Given the description of an element on the screen output the (x, y) to click on. 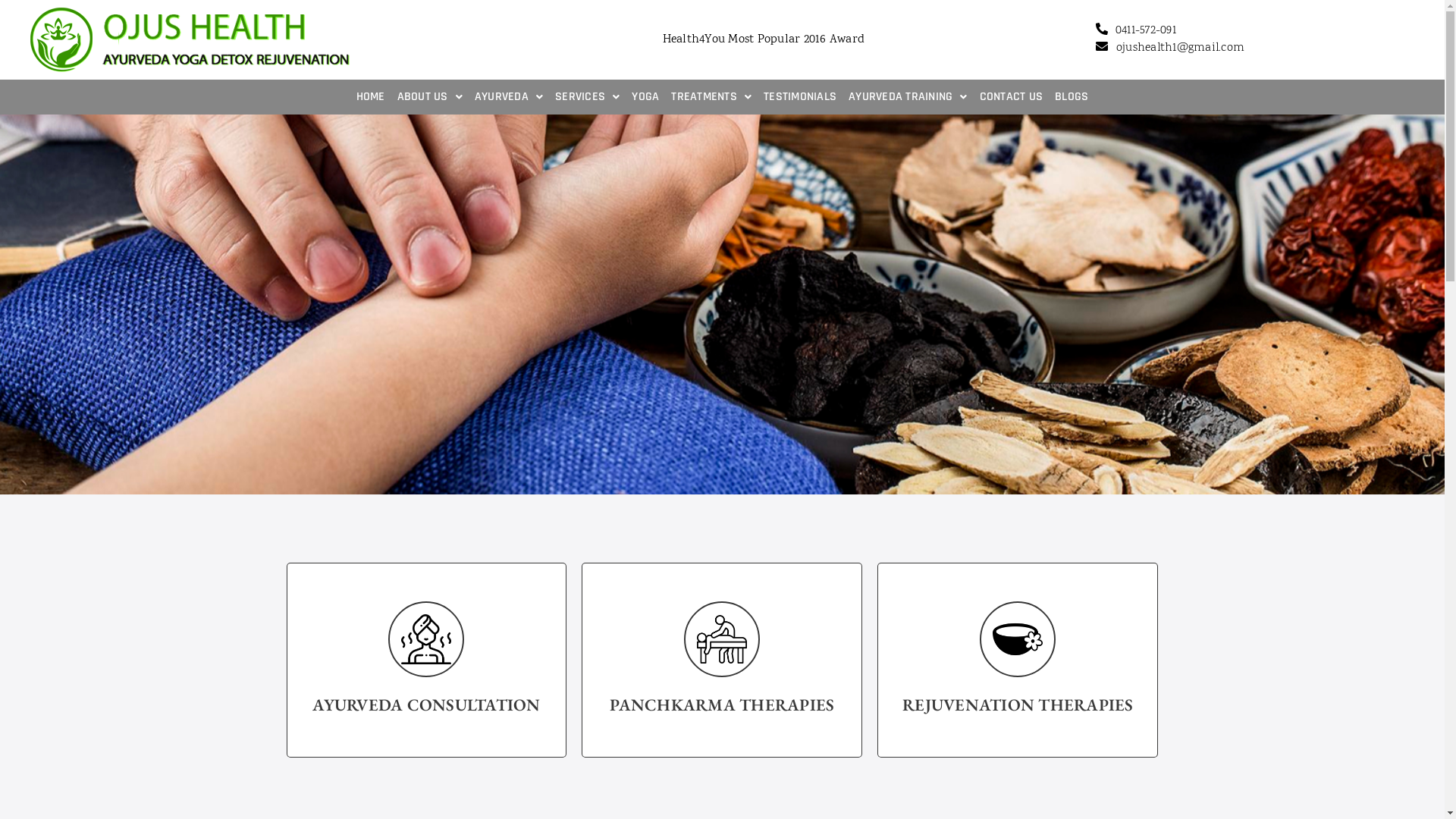
AYURVEDA Element type: text (508, 96)
YOGA Element type: text (645, 96)
CONTACT US Element type: text (1011, 96)
ABOUT US Element type: text (429, 96)
TESTIMONIALS Element type: text (799, 96)
AYURVEDA CONSULTATION Element type: text (426, 659)
SERVICES Element type: text (587, 96)
HOME Element type: text (370, 96)
BLOGS Element type: text (1071, 96)
REJUVENATION THERAPIES Element type: text (1017, 659)
TREATMENTS Element type: text (711, 96)
AYURVEDA TRAINING Element type: text (907, 96)
ojushealth1@gmail.com Element type: text (1180, 47)
Health4You Most Popular 2016 Award Element type: text (763, 39)
PANCHKARMA THERAPIES Element type: text (721, 659)
